Given the description of an element on the screen output the (x, y) to click on. 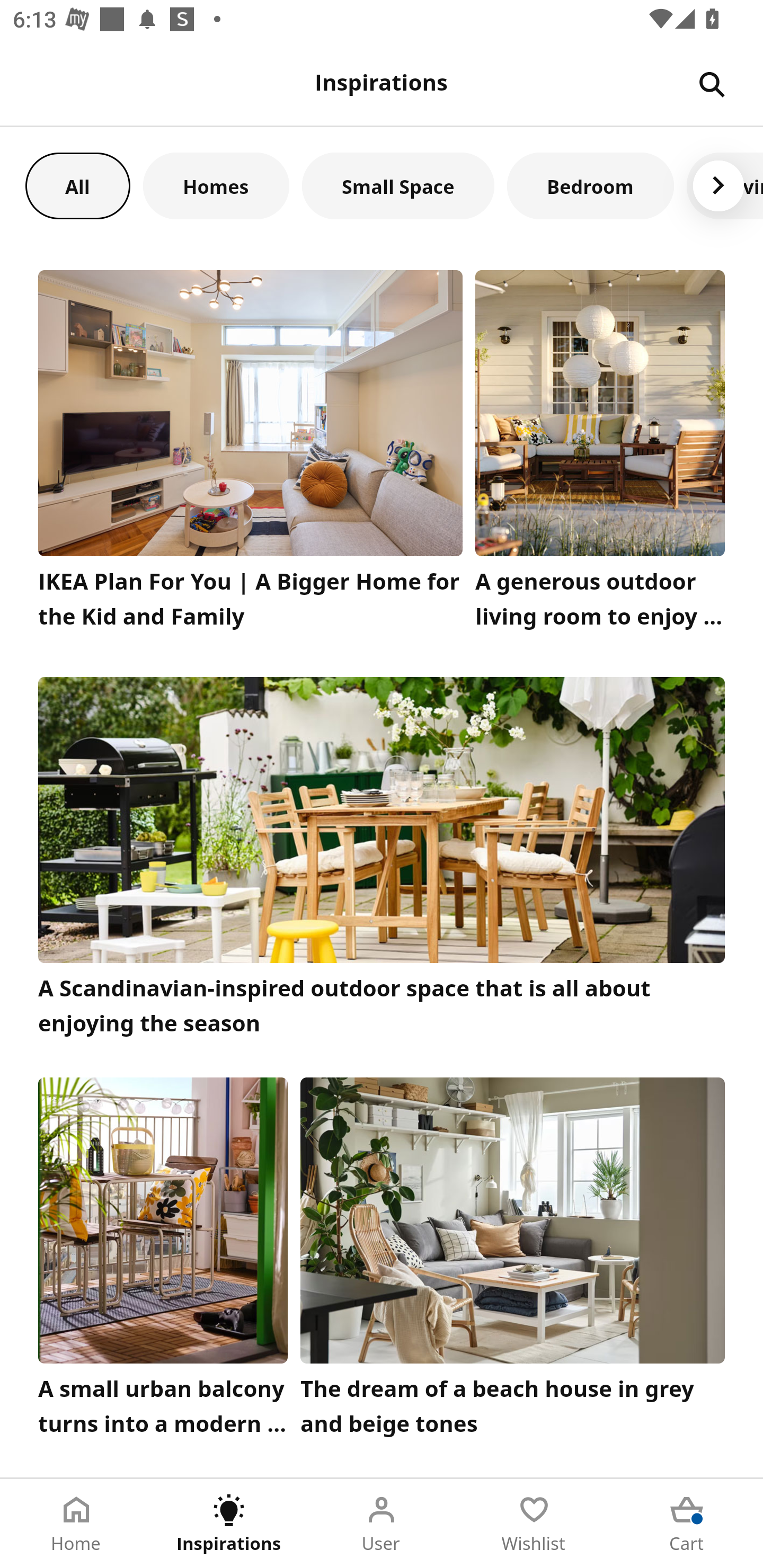
All (77, 185)
Homes (216, 185)
Small Space (398, 185)
Bedroom (590, 185)
The dream of a beach house in grey and beige tones (512, 1261)
Home
Tab 1 of 5 (76, 1522)
Inspirations
Tab 2 of 5 (228, 1522)
User
Tab 3 of 5 (381, 1522)
Wishlist
Tab 4 of 5 (533, 1522)
Cart
Tab 5 of 5 (686, 1522)
